Given the description of an element on the screen output the (x, y) to click on. 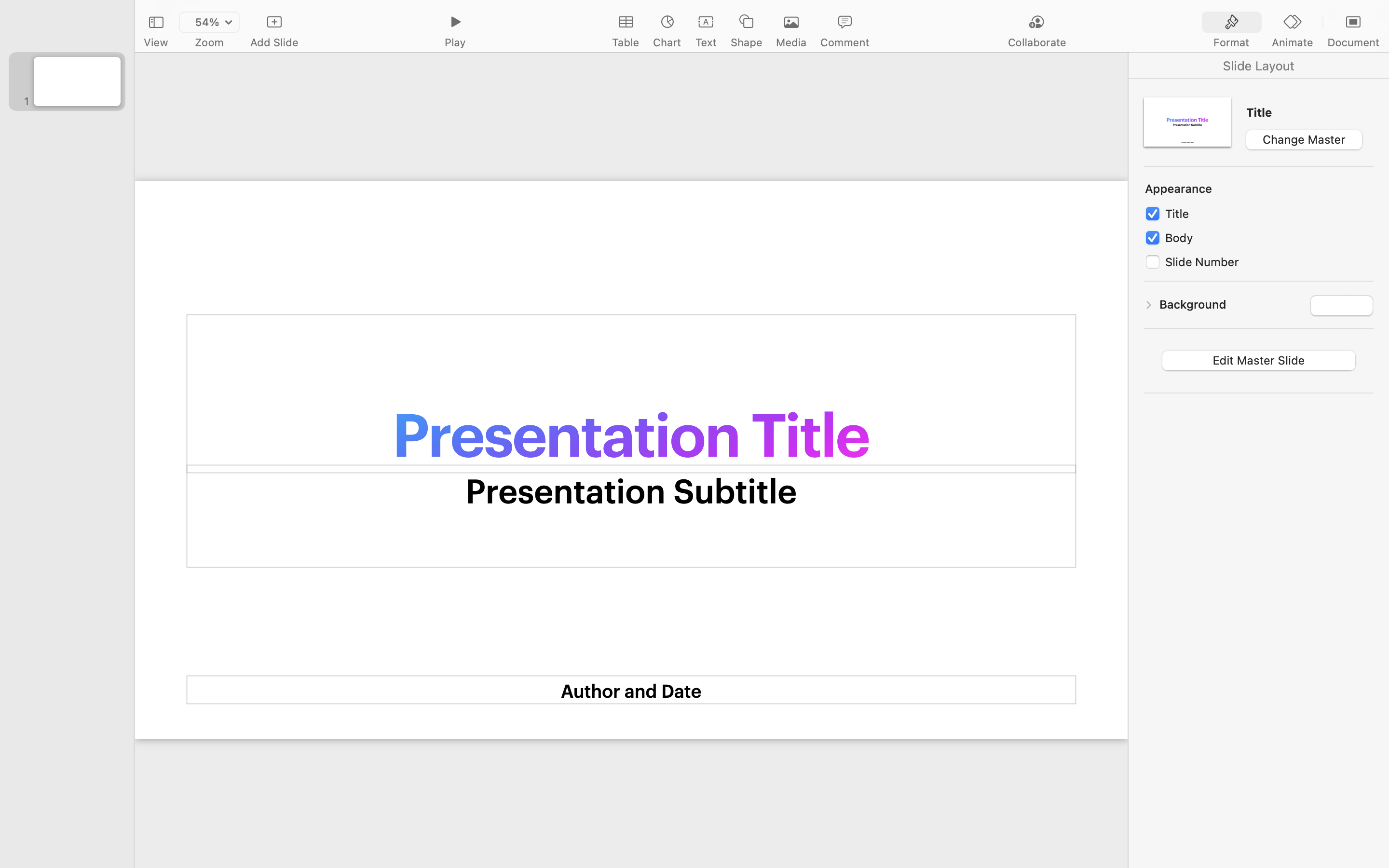
Zoom Element type: AXStaticText (208, 42)
Media Element type: AXStaticText (790, 42)
View Element type: AXStaticText (155, 42)
Title Element type: AXStaticText (1309, 112)
